Given the description of an element on the screen output the (x, y) to click on. 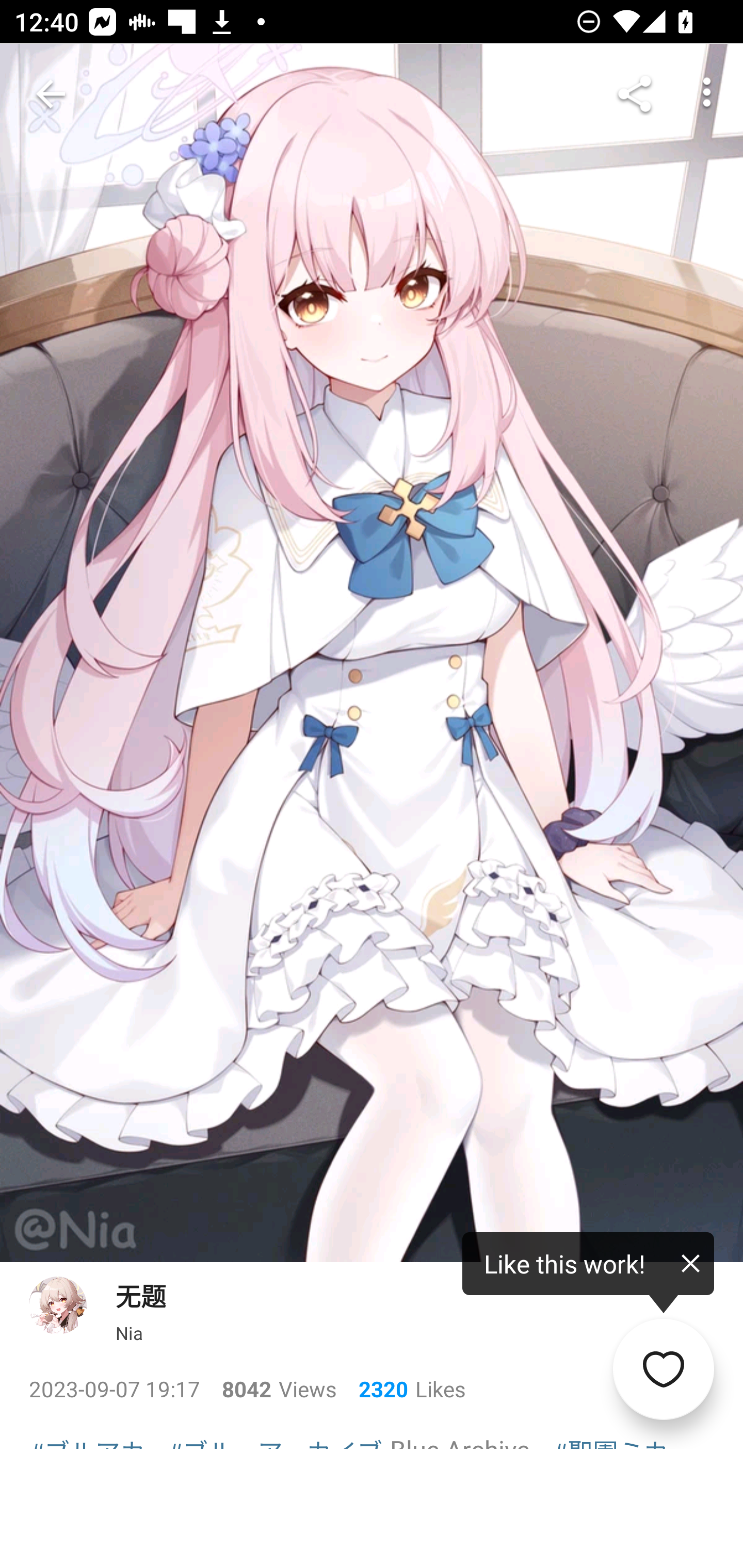
Share (634, 93)
More options (706, 93)
Nia (128, 1332)
2320 (375, 1388)
